Given the description of an element on the screen output the (x, y) to click on. 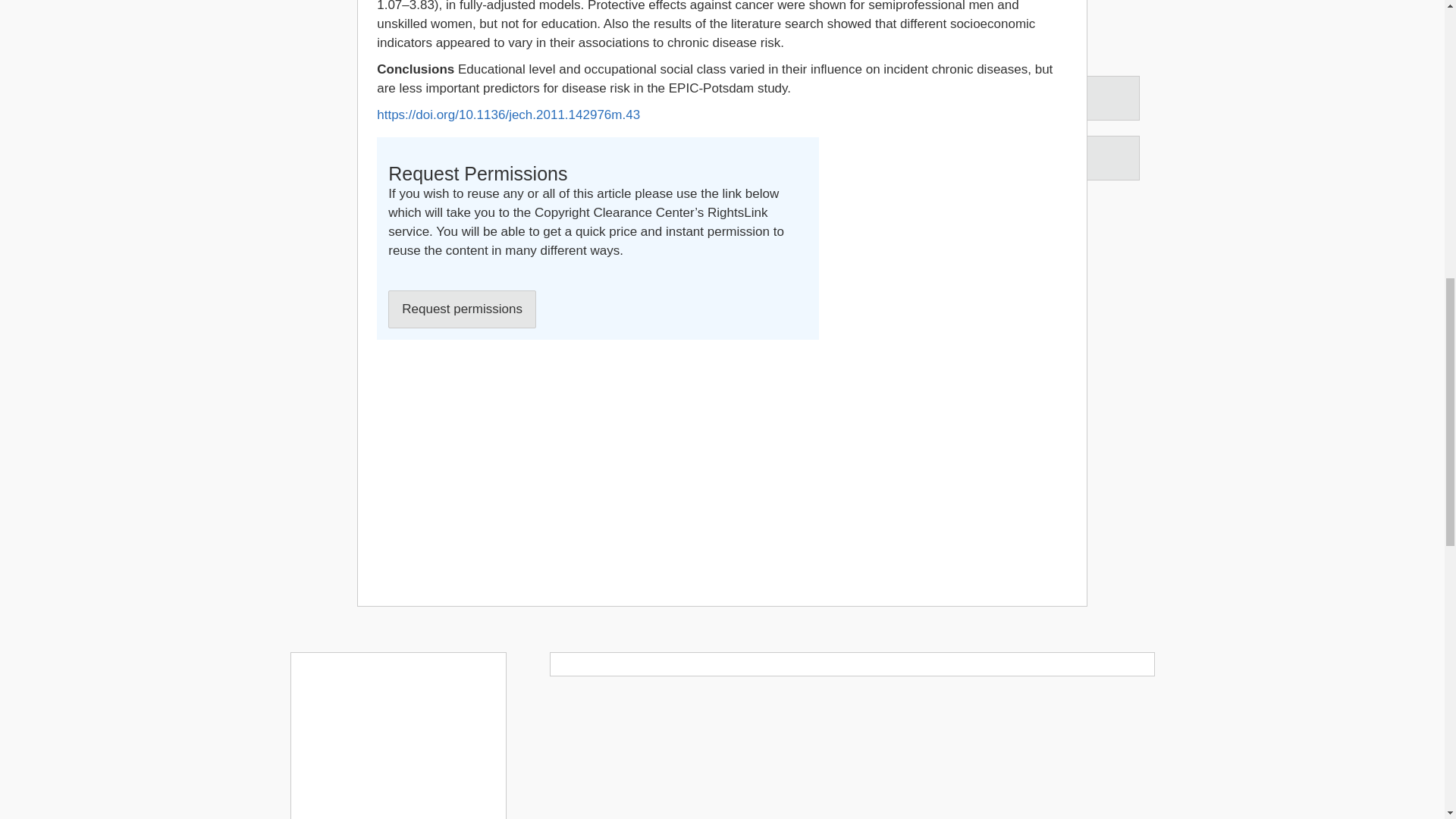
careers widget (397, 735)
